Given the description of an element on the screen output the (x, y) to click on. 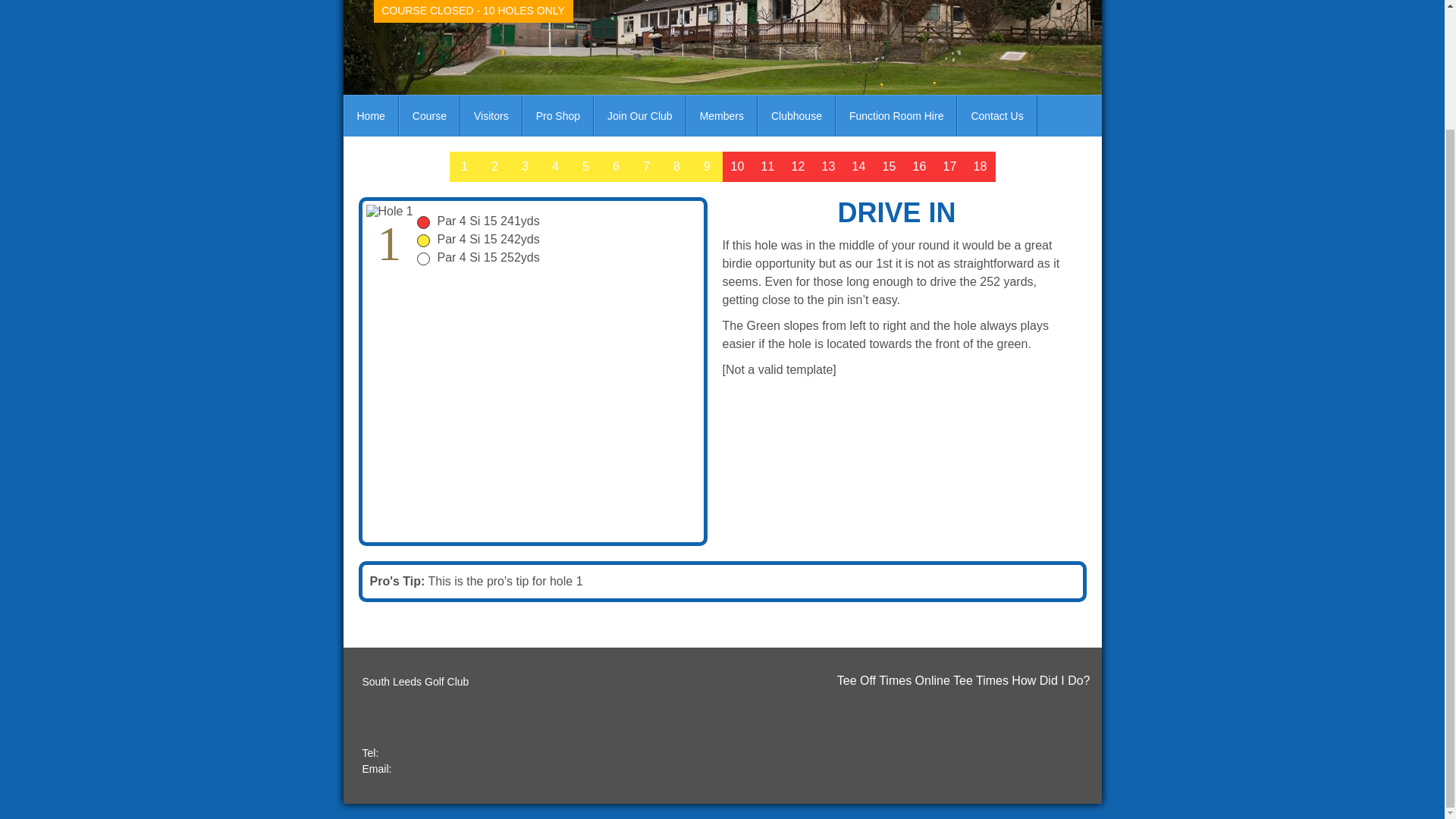
11 (767, 166)
Members (722, 115)
Home (370, 115)
6 (614, 166)
Course (429, 115)
5 (584, 166)
9 (706, 166)
4 (555, 166)
10 (737, 166)
8 (676, 166)
